Given the description of an element on the screen output the (x, y) to click on. 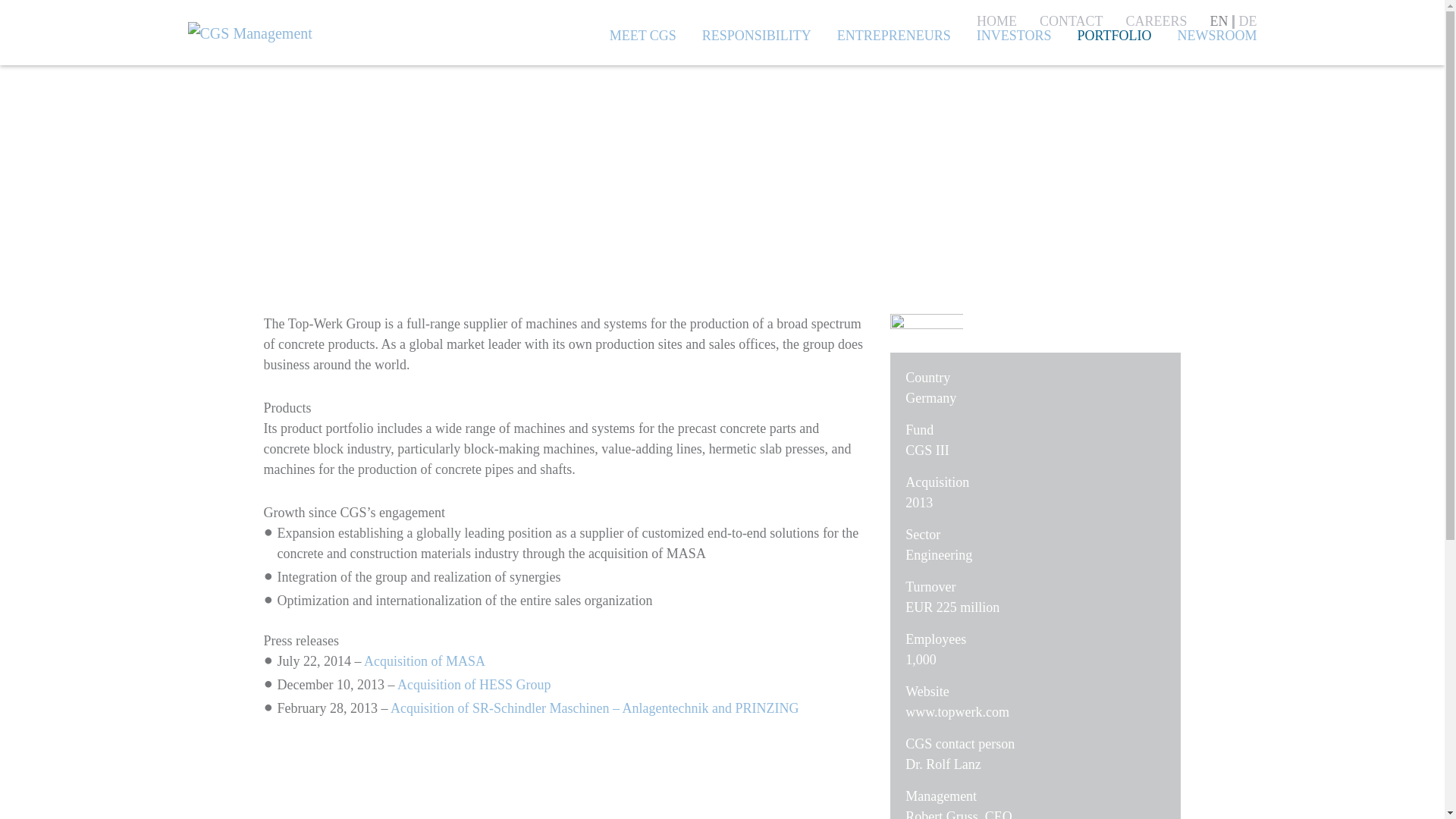
Home (996, 21)
CONTACT (1071, 21)
ENTREPRENEURS (893, 35)
CAREERS (1155, 21)
Investors (1013, 35)
Contact (1071, 21)
EN (1215, 21)
Acquisition of HESS Group (474, 684)
HOME (996, 21)
Responsibility (756, 35)
